Given the description of an element on the screen output the (x, y) to click on. 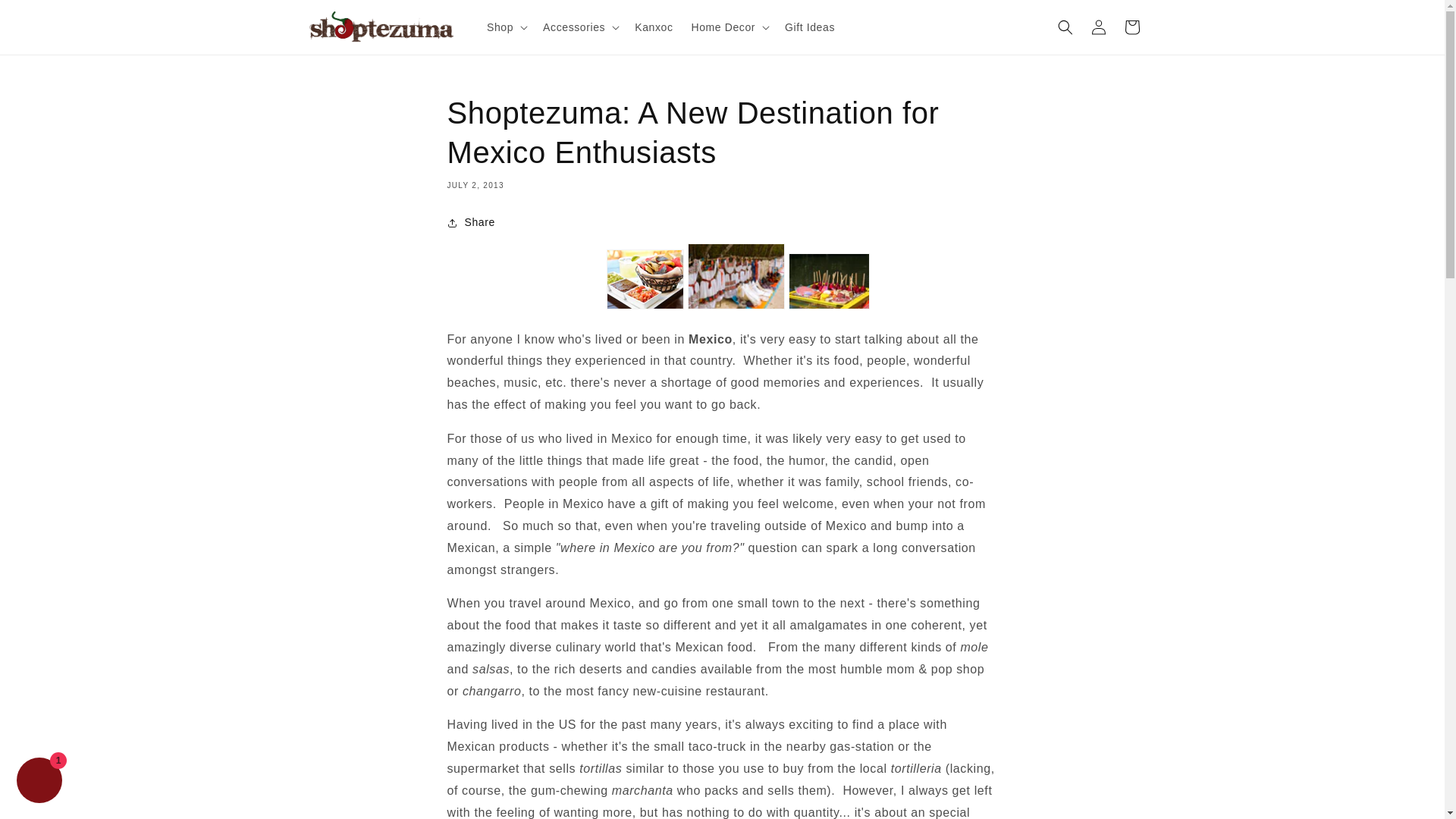
Shopify online store chat (38, 781)
Skip to content (45, 17)
